Given the description of an element on the screen output the (x, y) to click on. 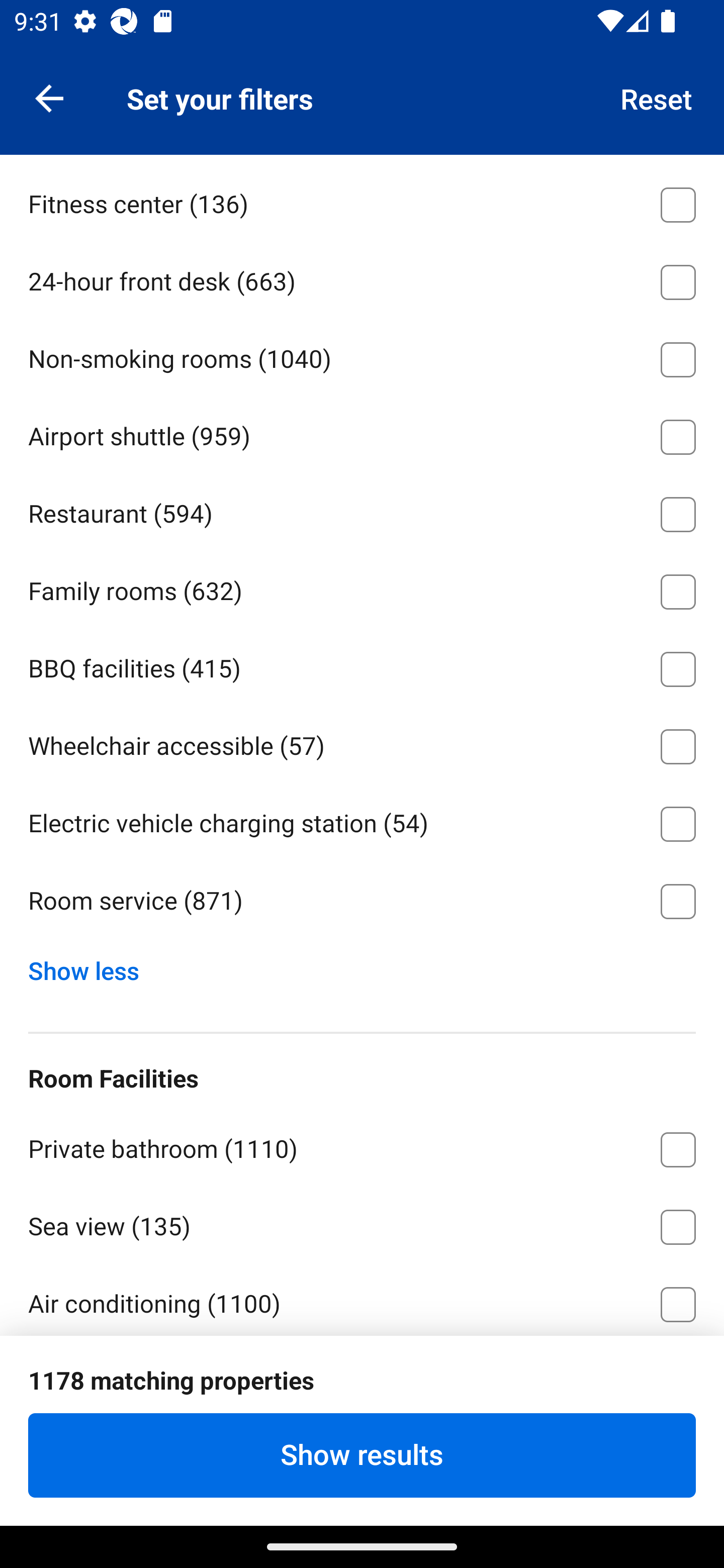
Navigate up (49, 97)
Reset (656, 97)
Fitness center ⁦(136) (361, 201)
24-hour front desk ⁦(663) (361, 278)
Non-smoking rooms ⁦(1040) (361, 356)
Airport shuttle ⁦(959) (361, 433)
Restaurant ⁦(594) (361, 510)
Family rooms ⁦(632) (361, 588)
BBQ facilities ⁦(415) (361, 665)
Wheelchair accessible ⁦(57) (361, 743)
Electric vehicle charging station ⁦(54) (361, 820)
Room service ⁦(871) (361, 901)
Show less (90, 966)
Private bathroom ⁦(1110) (361, 1146)
Sea view ⁦(135) (361, 1223)
Air conditioning ⁦(1100) (361, 1298)
Balcony ⁦(740) (361, 1378)
Show results (361, 1454)
